Given the description of an element on the screen output the (x, y) to click on. 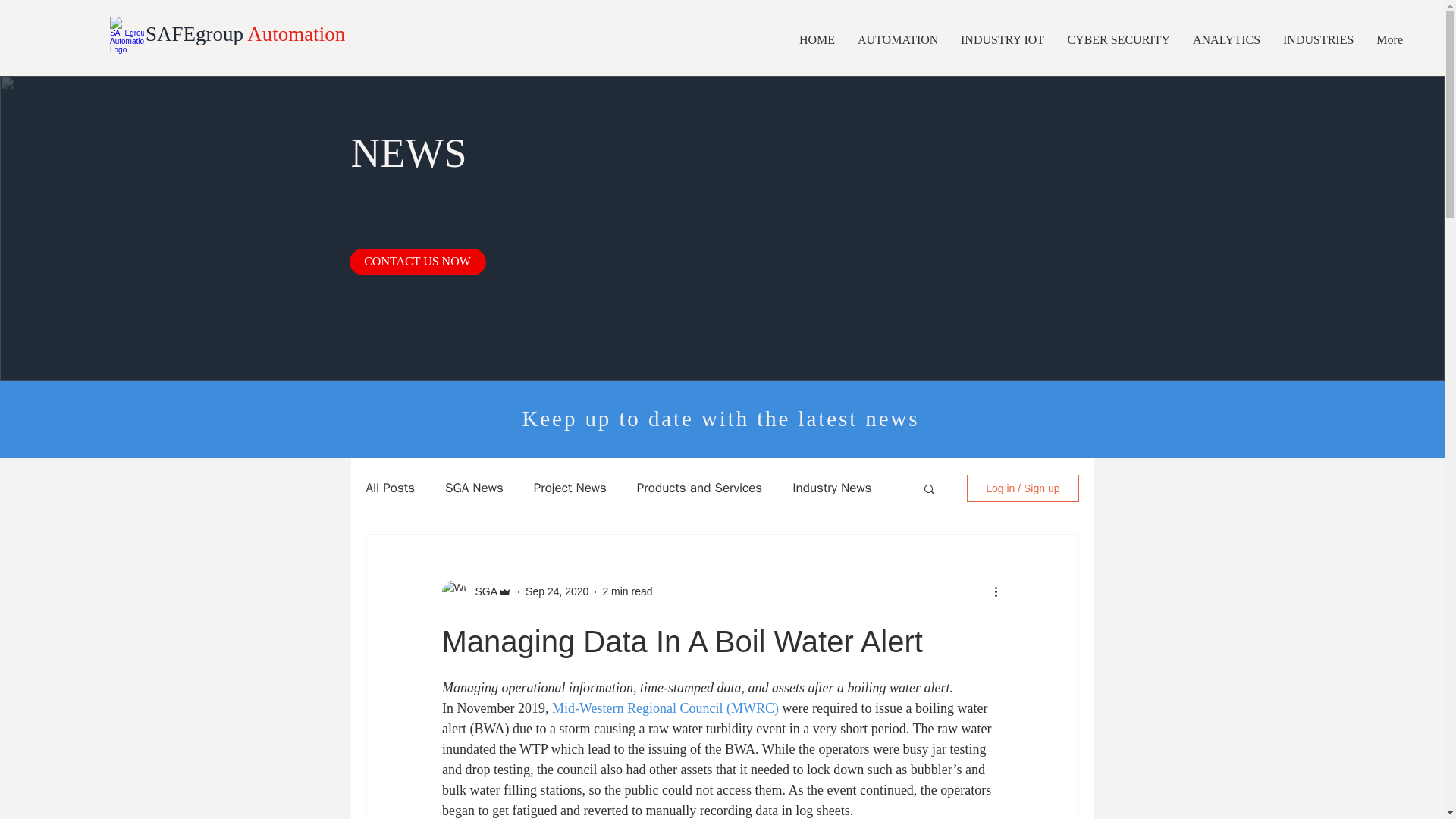
INDUSTRY IOT (1002, 39)
All Posts (389, 487)
SGA (481, 591)
ANALYTICS (1225, 39)
CONTACT US NOW (416, 261)
2 min read (627, 591)
HOME (816, 39)
Industry News (831, 487)
Project News (570, 487)
Sep 24, 2020 (556, 591)
